Given the description of an element on the screen output the (x, y) to click on. 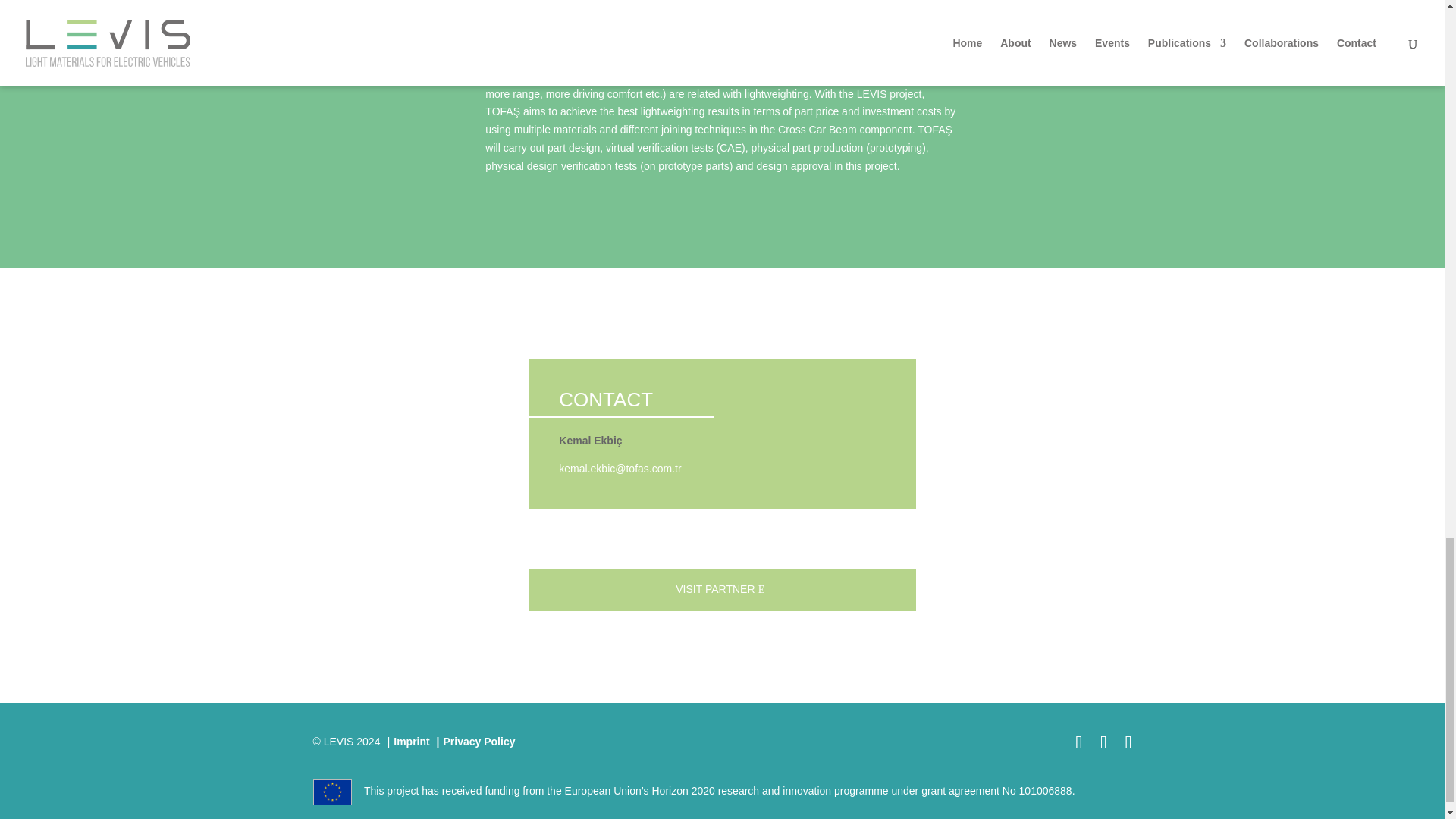
Privacy Policy (479, 741)
Imprint (411, 741)
VISIT PARTNER (721, 589)
